Given the description of an element on the screen output the (x, y) to click on. 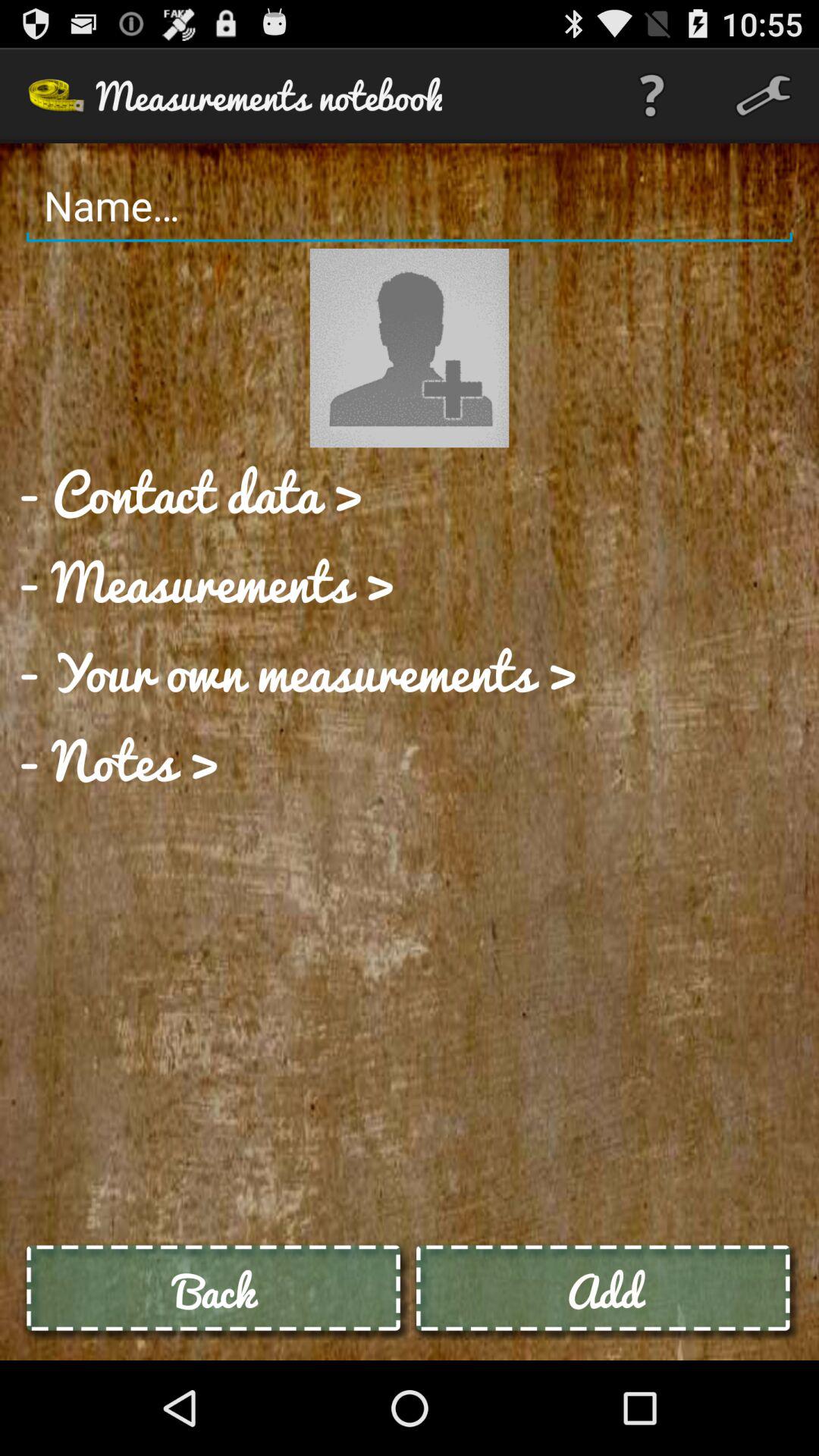
tap the add item (604, 1290)
